Given the description of an element on the screen output the (x, y) to click on. 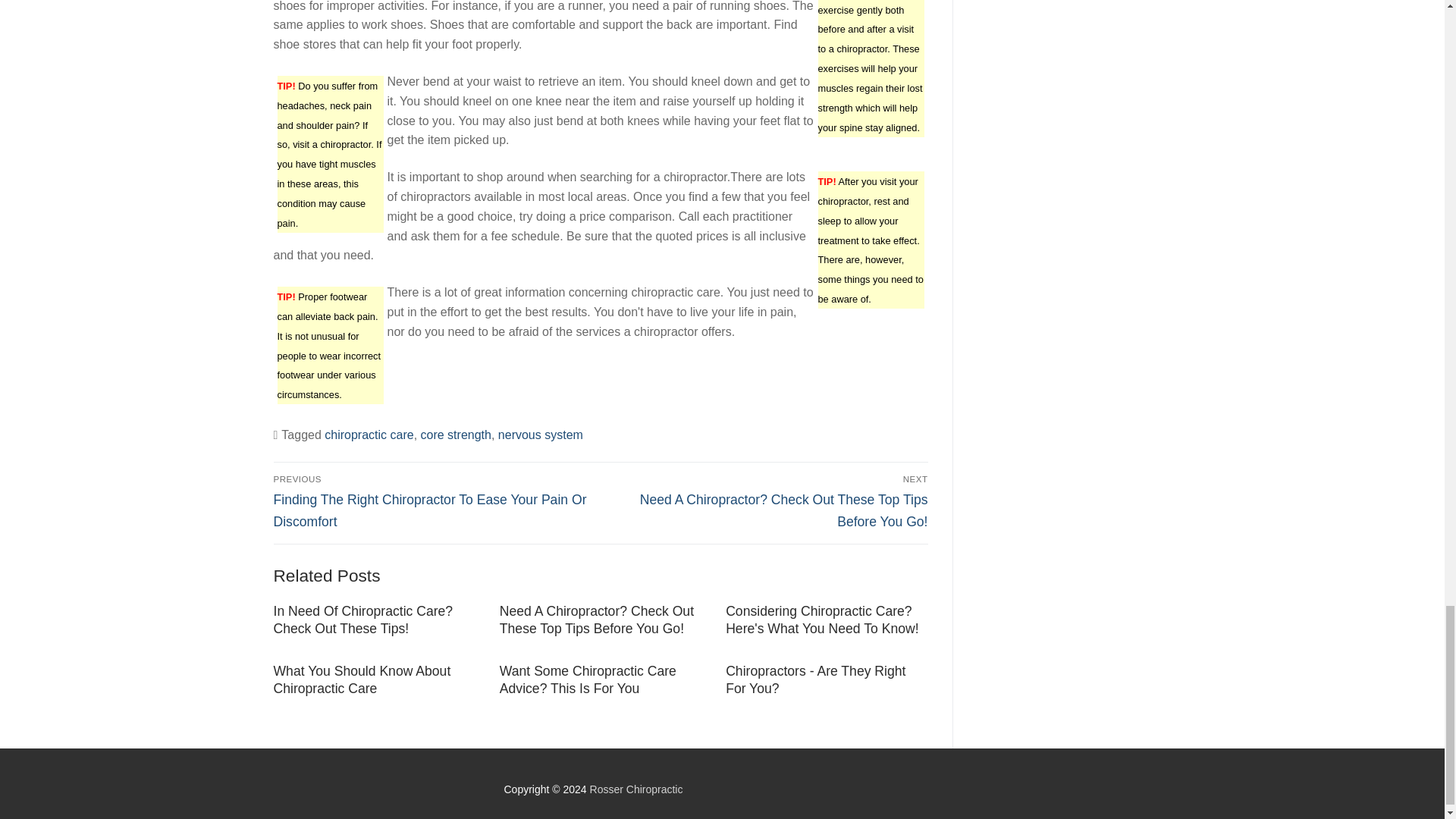
In Need Of Chiropractic Care? Check Out These Tips! (362, 619)
Chiropractors - Are They Right For You? (815, 679)
core strength (456, 434)
Chiropractors - Are They Right For You? (815, 679)
Want Some Chiropractic Care Advice? This Is For You (588, 679)
What You Should Know About Chiropractic Care (361, 679)
Considering Chiropractic Care? Here's What You Need To Know! (821, 619)
Considering Chiropractic Care? Here's What You Need To Know! (821, 619)
chiropractic care (368, 434)
